Given the description of an element on the screen output the (x, y) to click on. 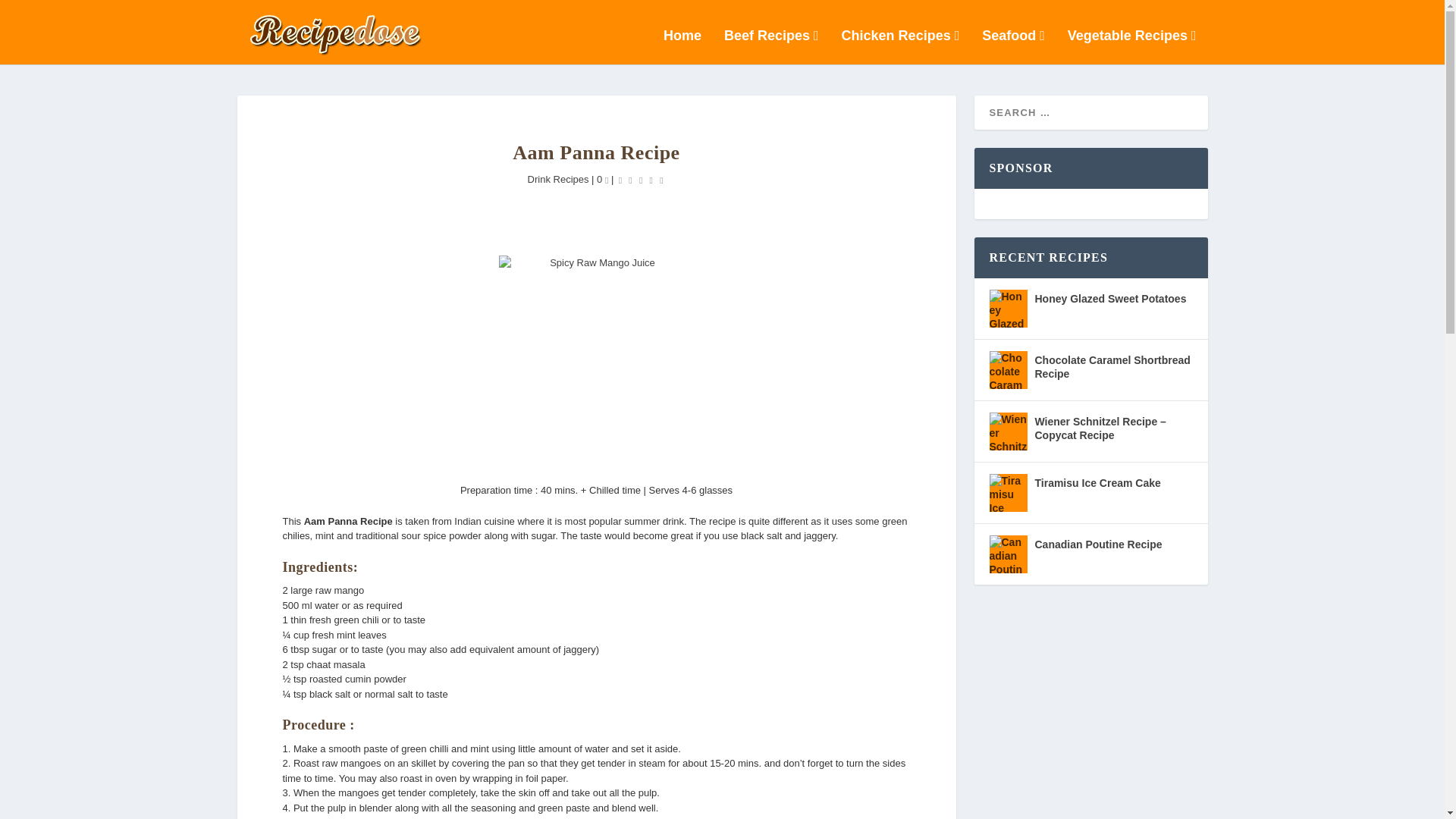
Honey Glazed Sweet Potatoes (1007, 308)
Seafood (1013, 46)
Chicken Recipes (900, 46)
Drink Recipes (558, 179)
Chocolate Caramel Shortbread Recipe (1007, 370)
Home (682, 46)
Rating: 0.00 (640, 179)
Beef Recipes (770, 46)
0 (602, 179)
Vegetable Recipes (1131, 46)
